Given the description of an element on the screen output the (x, y) to click on. 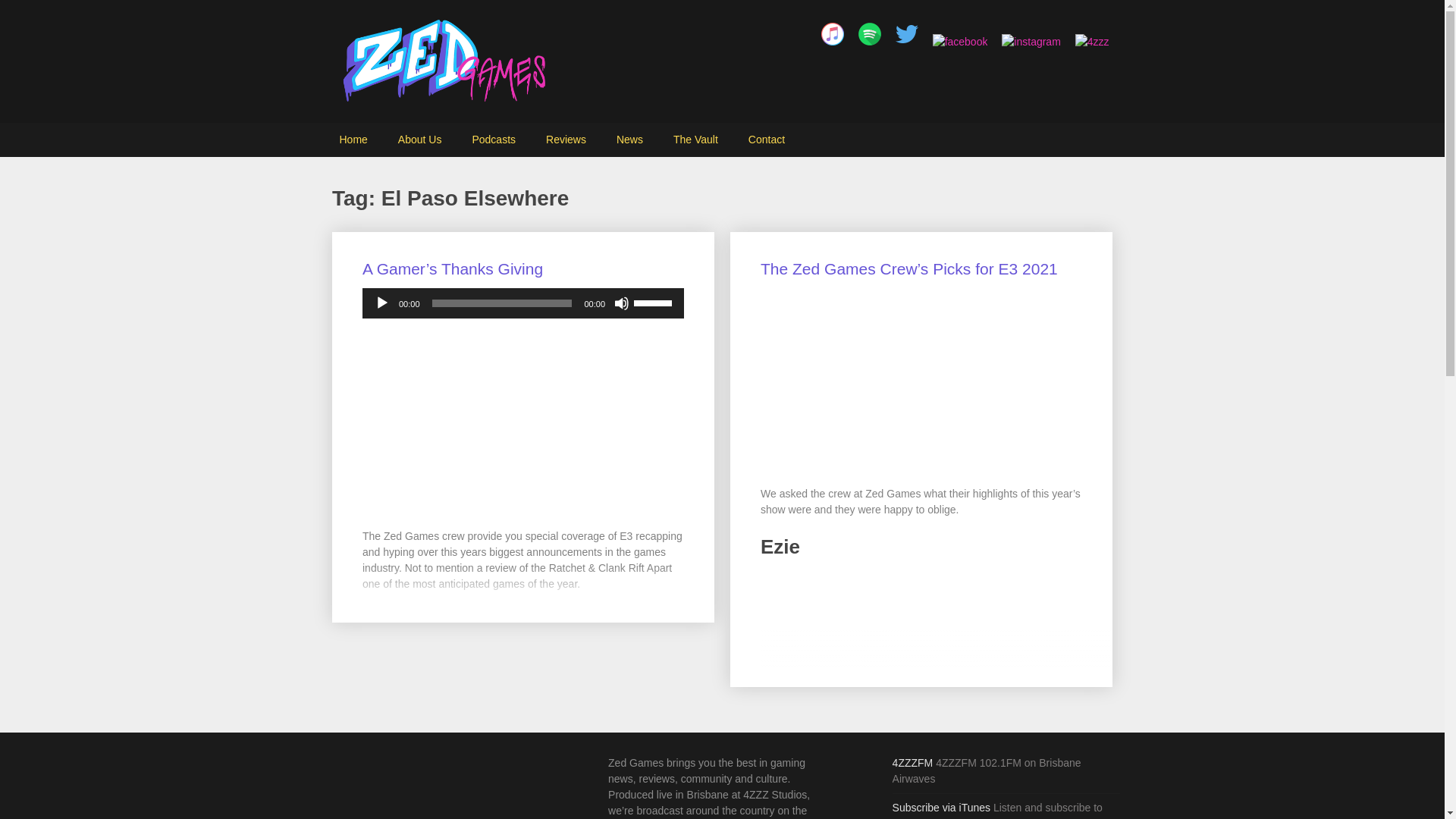
Reviews (566, 139)
Subscribe via iTunes (941, 807)
Mute (621, 303)
YouTube video player (920, 689)
About Us (419, 139)
Home (353, 139)
News (629, 139)
Podcasts (494, 139)
The Vault (695, 139)
Play (382, 303)
Contact (766, 139)
4ZZZFM (912, 762)
